Given the description of an element on the screen output the (x, y) to click on. 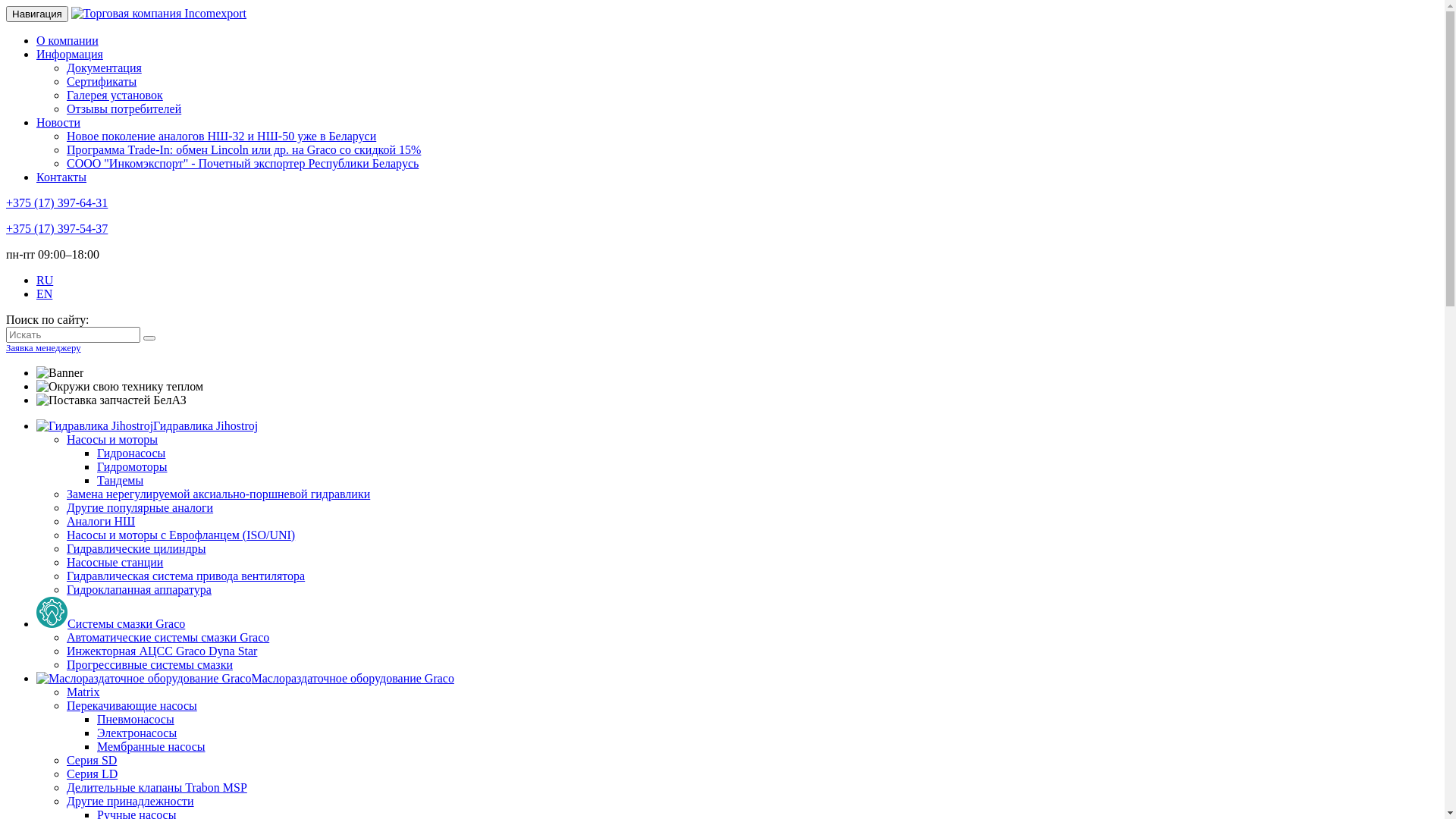
+375 (17) 397-54-37 Element type: text (56, 228)
RU Element type: text (44, 279)
Matrix Element type: text (83, 691)
+375 (17) 397-64-31 Element type: text (56, 202)
EN Element type: text (44, 293)
